Given the description of an element on the screen output the (x, y) to click on. 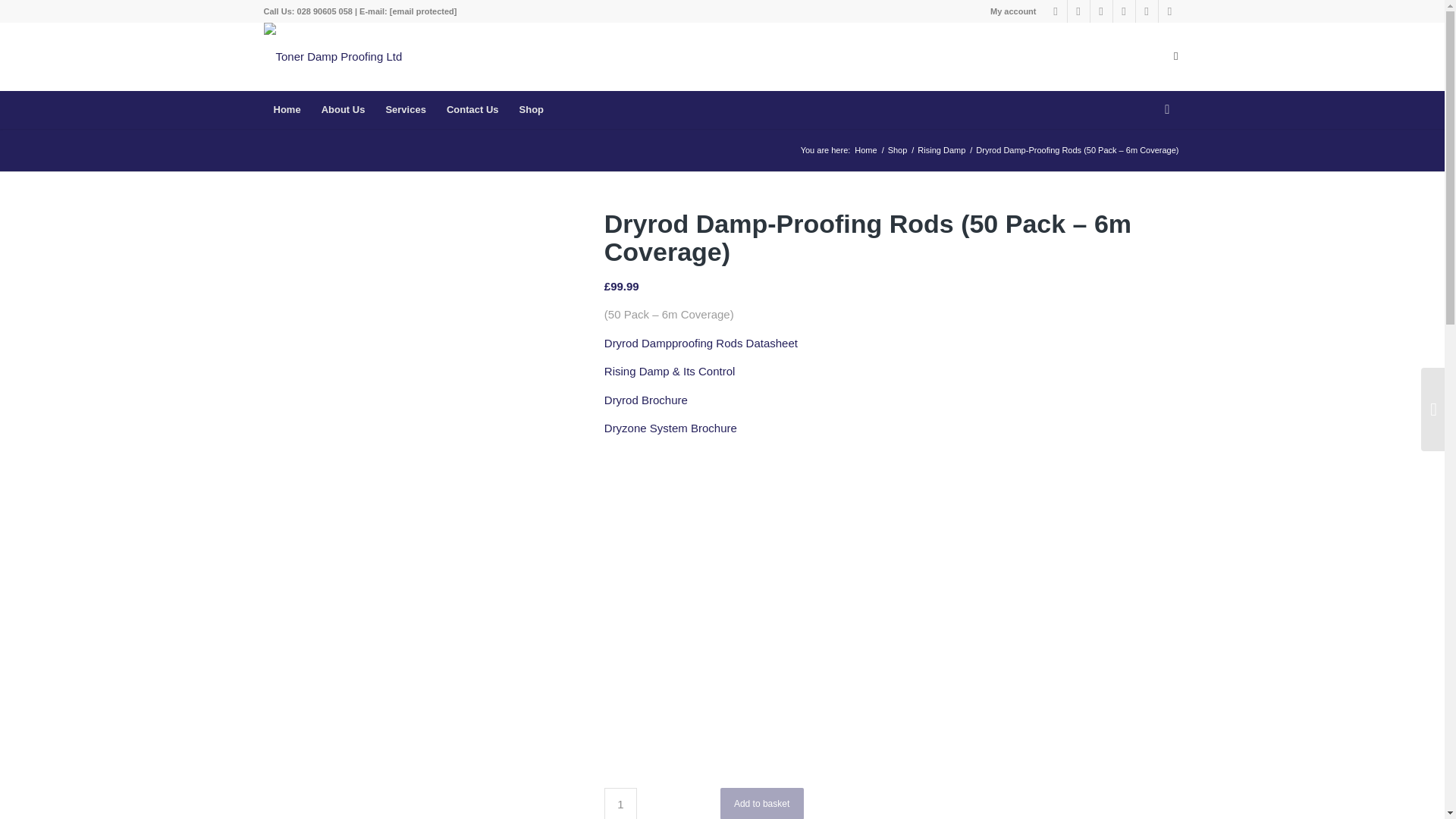
Rising Damp (941, 150)
Facebook (1056, 11)
About Us (343, 109)
Shop (531, 109)
logo profile (333, 56)
Youtube (1146, 11)
WhatsApp (1169, 11)
Add to basket (761, 803)
Dryrod Brochure (645, 399)
Home (865, 150)
X (1124, 11)
1 (620, 803)
Contact Us (471, 109)
LinkedIn (1101, 11)
Toner Damp Proofing Ltd (865, 150)
